Given the description of an element on the screen output the (x, y) to click on. 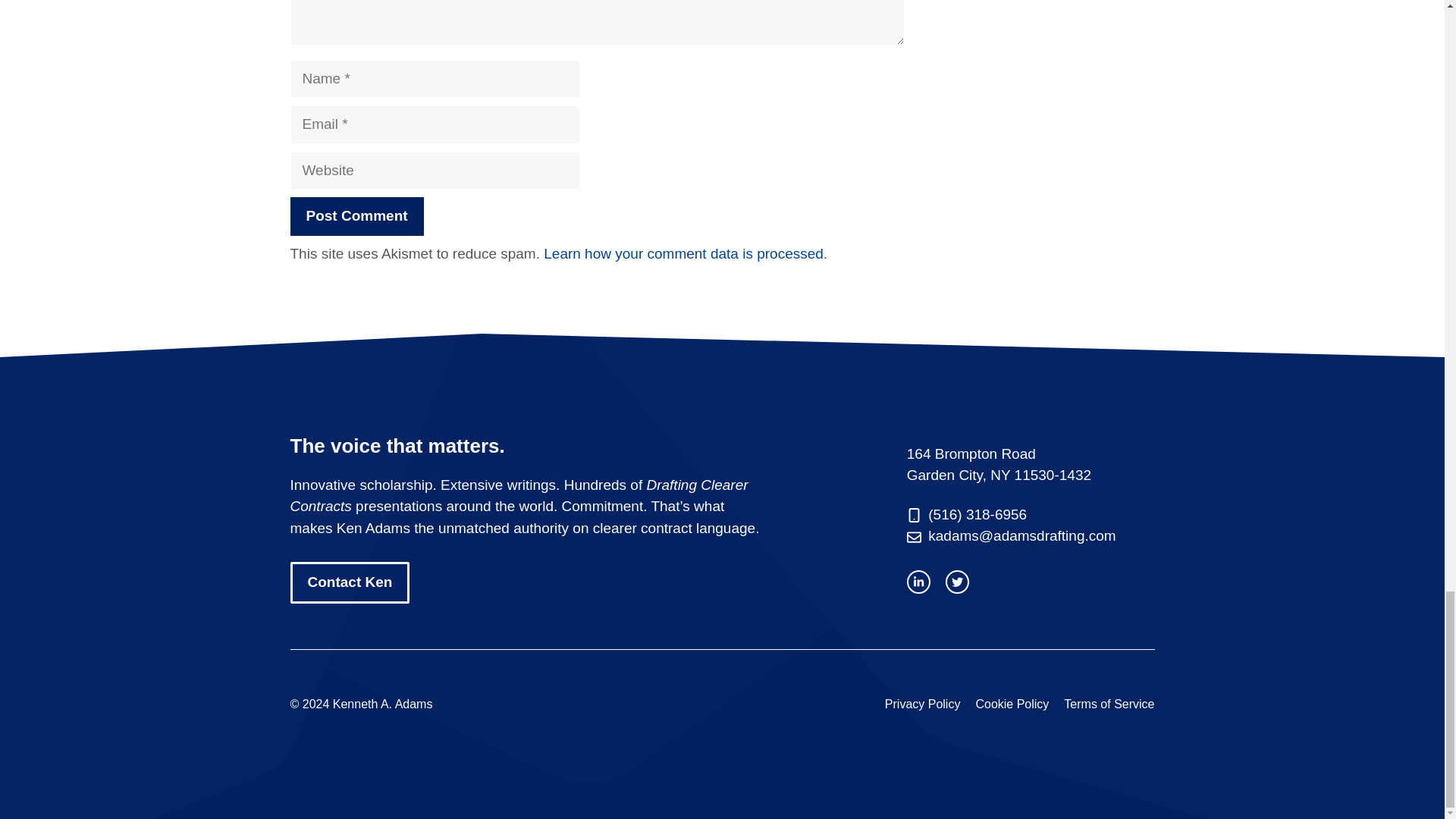
Learn how your comment data is processed (683, 253)
Post Comment (356, 216)
Post Comment (356, 216)
Contact Ken (349, 582)
